Given the description of an element on the screen output the (x, y) to click on. 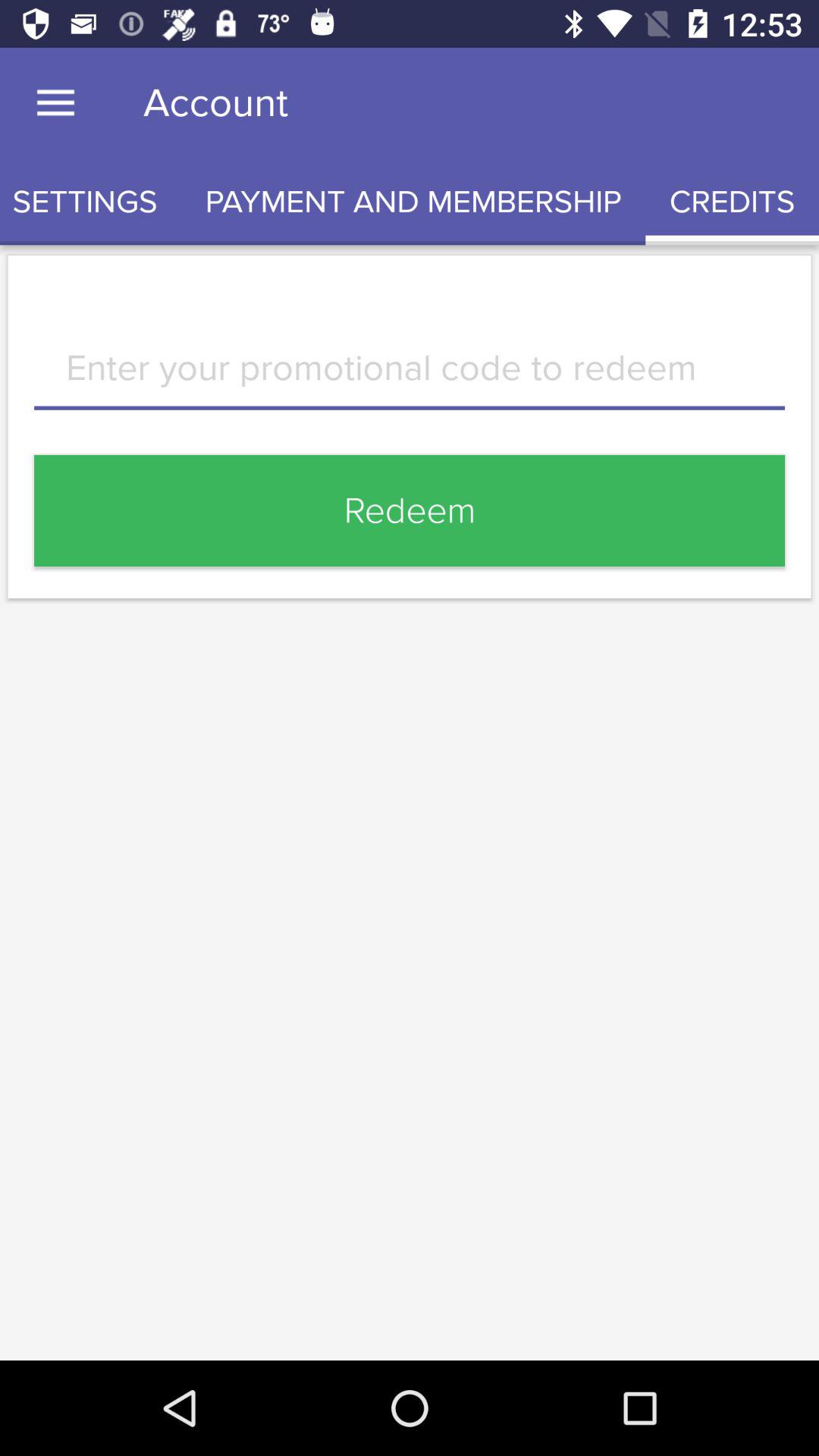
select the item next to settings item (413, 202)
